Given the description of an element on the screen output the (x, y) to click on. 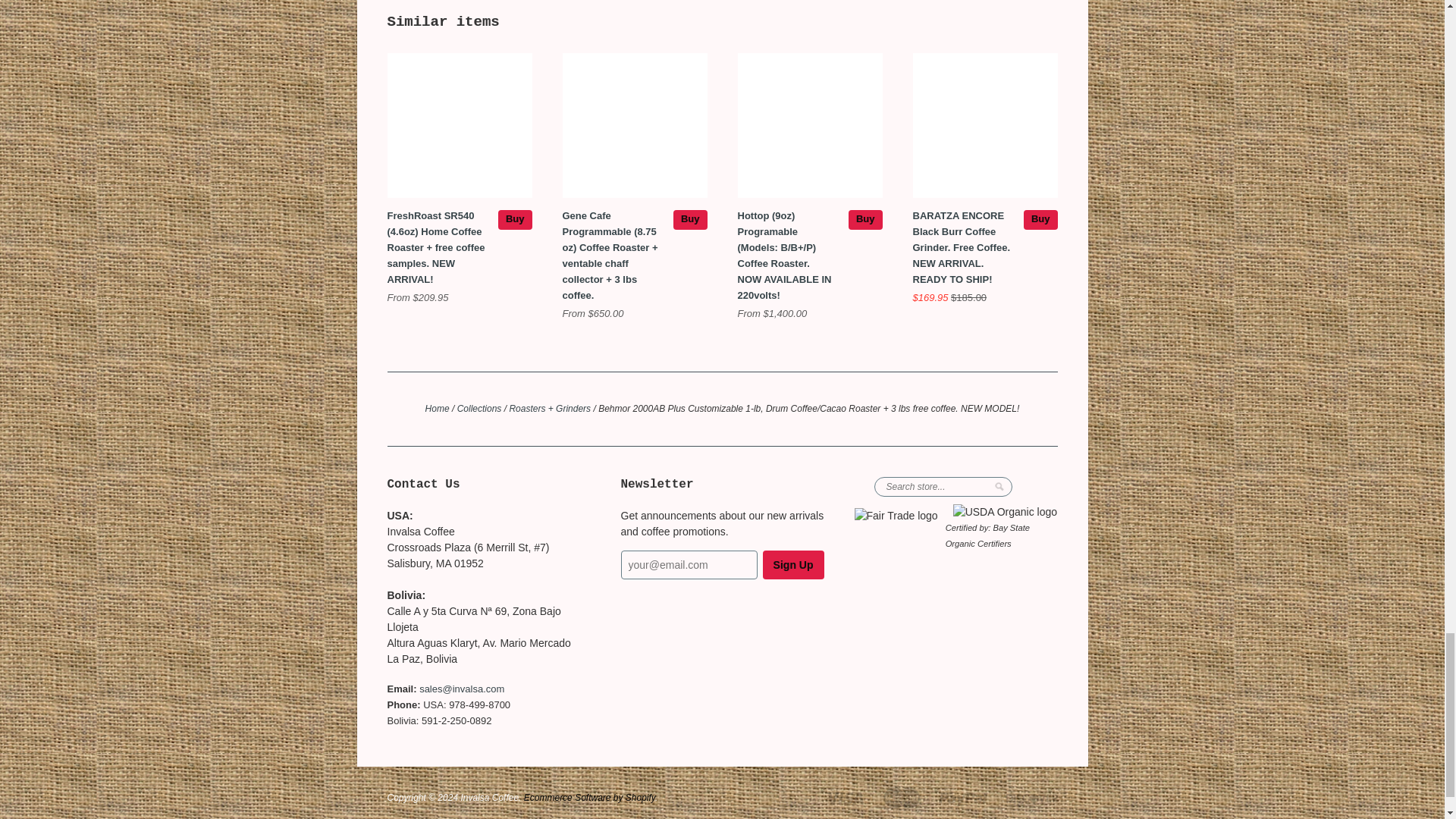
Sign Up (793, 564)
